Given the description of an element on the screen output the (x, y) to click on. 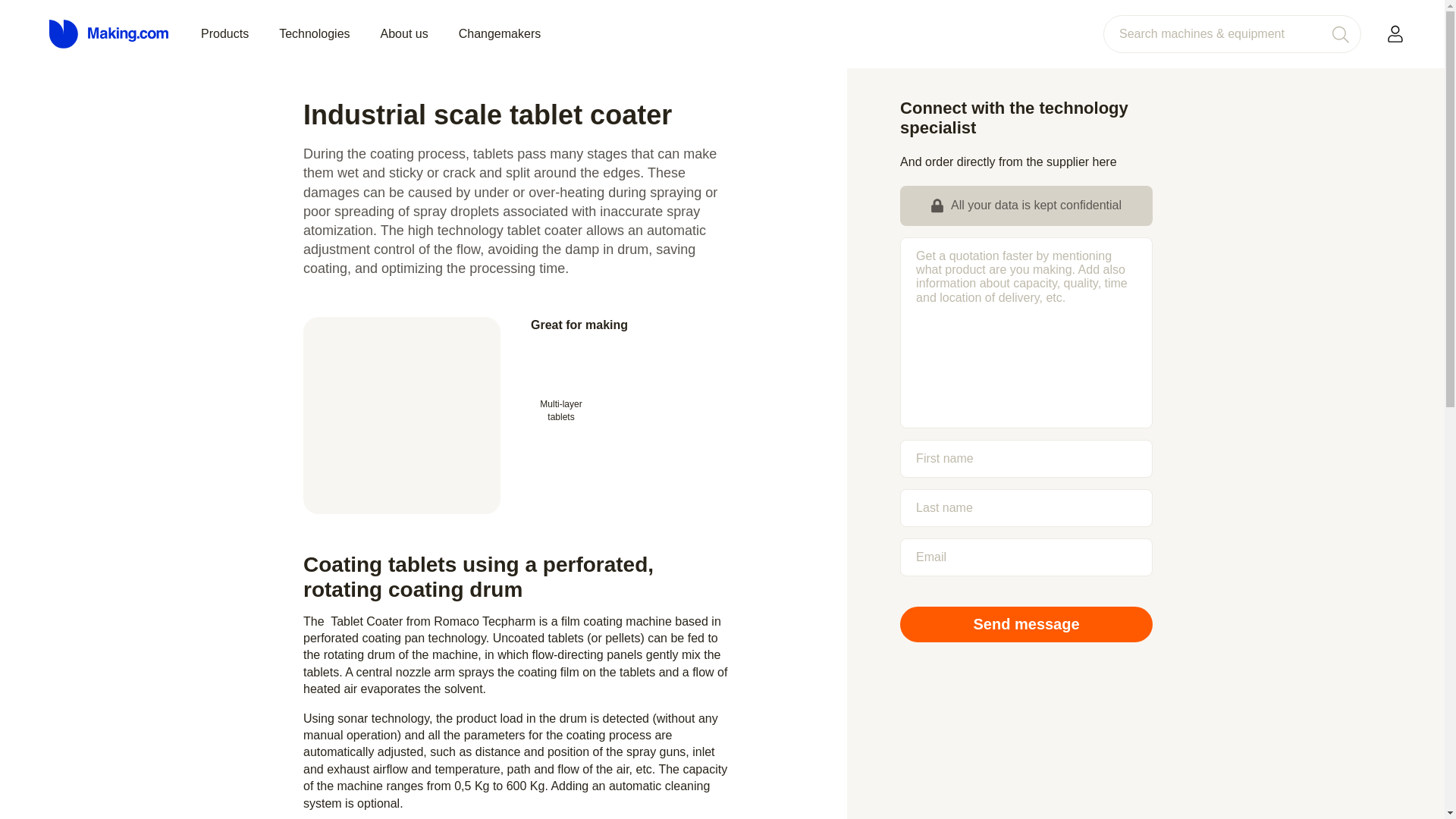
About us (404, 33)
Products (224, 33)
Technologies (314, 33)
Multi-layer tablets (561, 386)
Search (1339, 33)
Changemakers (499, 33)
Send message (1026, 624)
Home (109, 34)
